Given the description of an element on the screen output the (x, y) to click on. 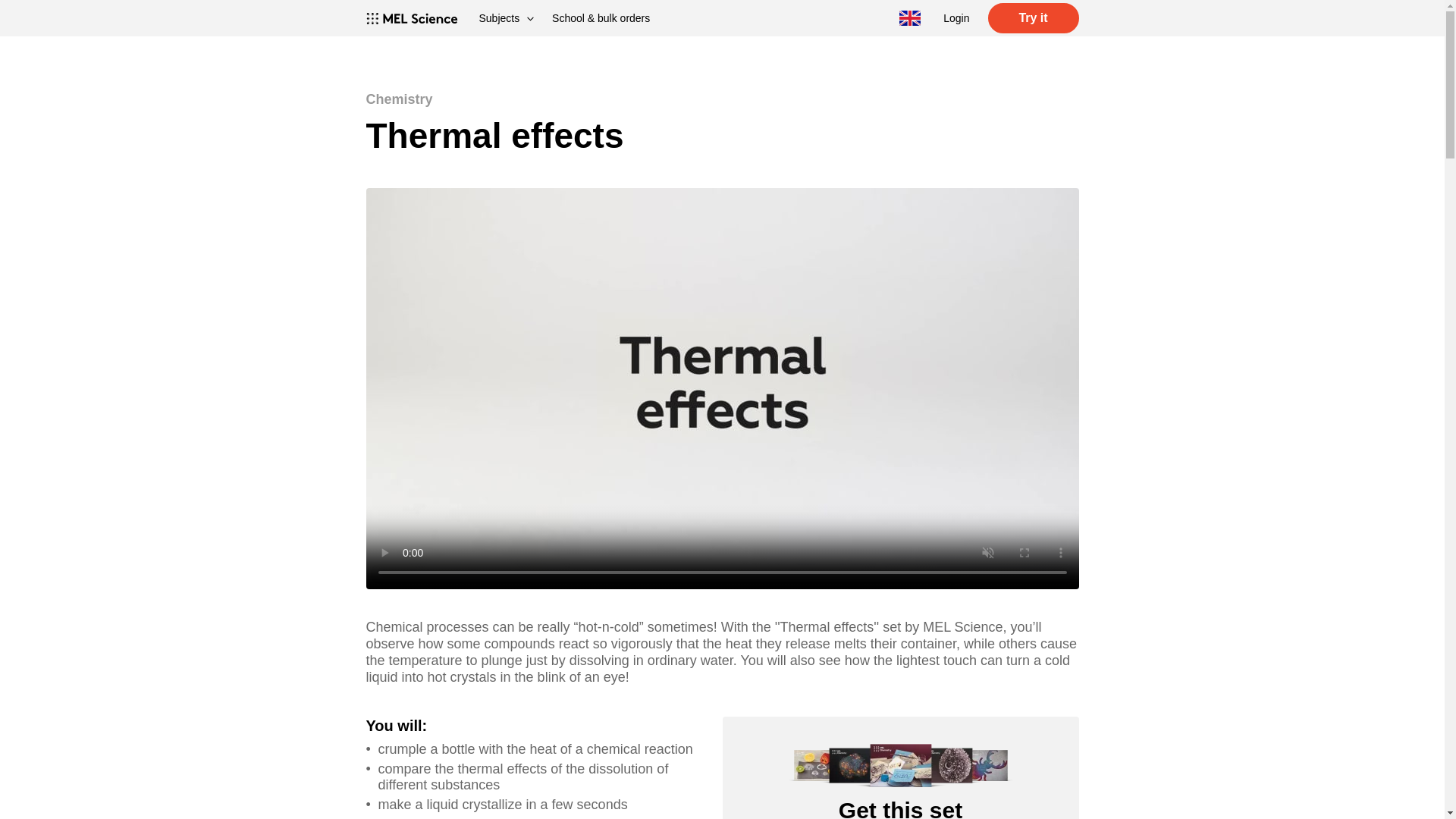
Change country (909, 18)
Subjects (506, 18)
Try it (1032, 18)
Opens a widget where you can find more information (1389, 792)
Login (956, 18)
